Given the description of an element on the screen output the (x, y) to click on. 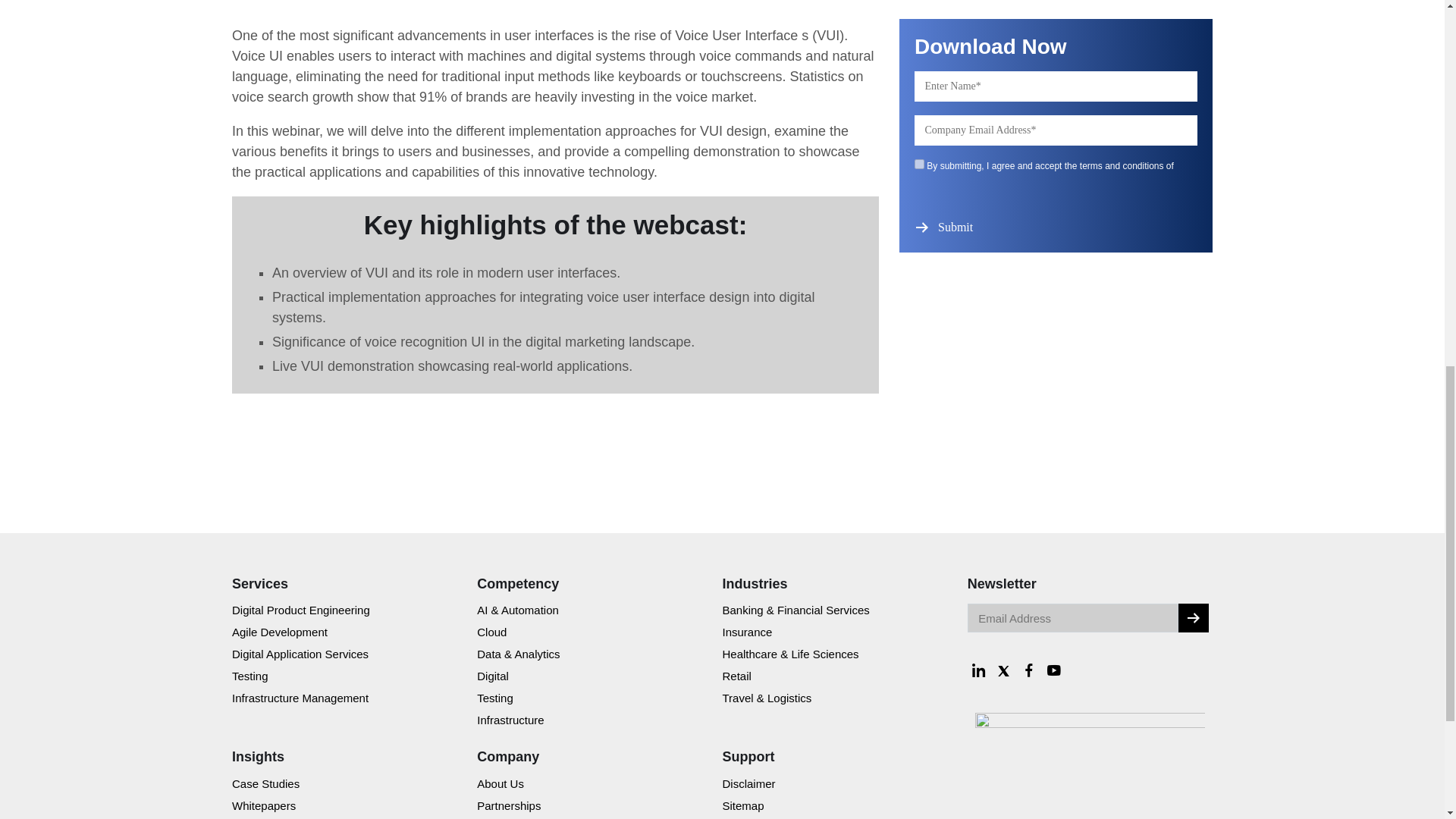
. (1192, 617)
Submit (957, 226)
